Given the description of an element on the screen output the (x, y) to click on. 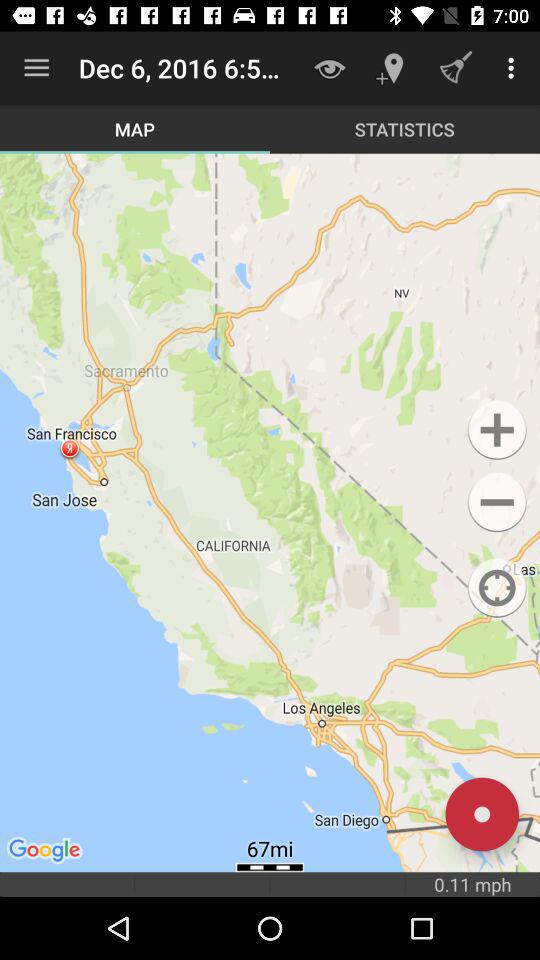
zoom out (496, 502)
